Given the description of an element on the screen output the (x, y) to click on. 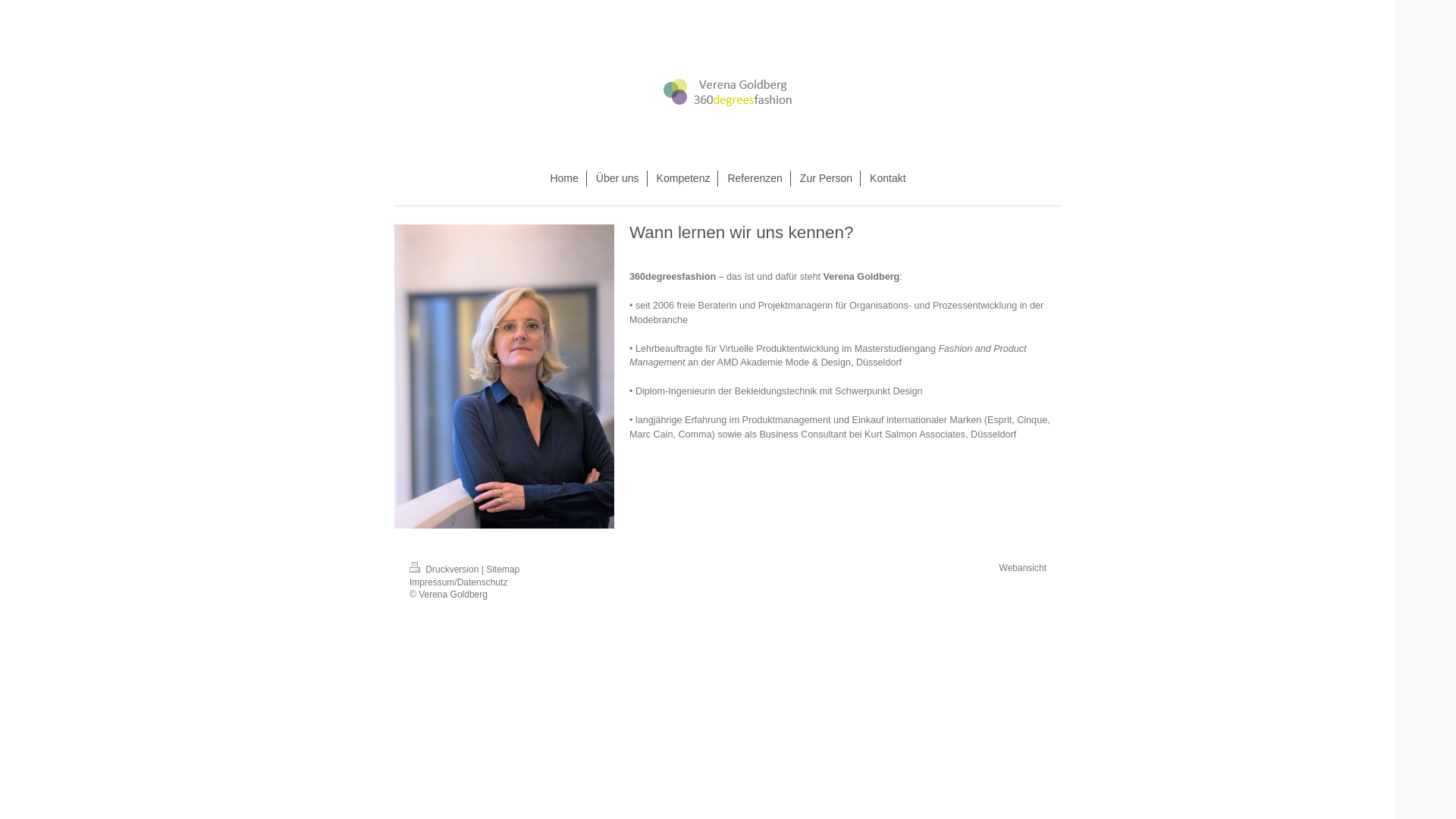
Webansicht Element type: text (1022, 567)
Kompetenz Element type: text (683, 178)
Impressum/Datenschutz Element type: text (458, 582)
Druckversion Element type: text (445, 569)
Sitemap Element type: text (502, 569)
Zur Person Element type: text (826, 178)
Home Element type: text (564, 178)
Referenzen Element type: text (754, 178)
Kontakt Element type: text (887, 178)
